Given the description of an element on the screen output the (x, y) to click on. 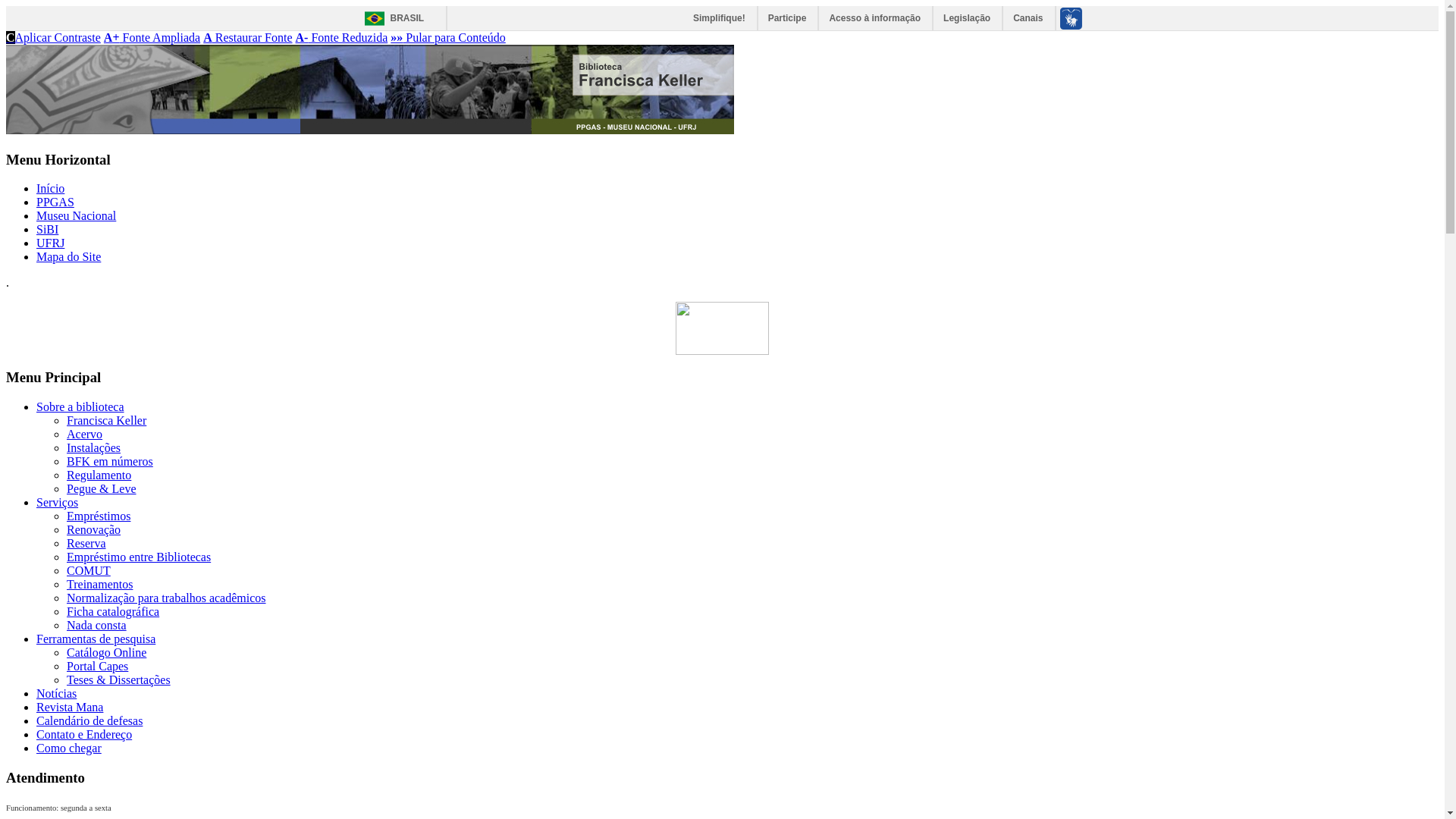
Regulamento Element type: text (98, 474)
Canais Element type: text (1028, 17)
Mapa do Site Element type: text (68, 256)
UFRJ Element type: text (50, 242)
Participe Element type: text (788, 17)
COMUT Element type: text (88, 570)
PPGAS Element type: text (55, 201)
Acervo Element type: text (84, 433)
Revista Mana Element type: text (69, 706)
Pegue & Leve Element type: text (101, 488)
Museu Nacional Element type: text (76, 215)
Nada consta Element type: text (96, 624)
Francisca Keller Element type: text (106, 420)
Portal Capes Element type: text (97, 665)
SiBI Element type: text (47, 228)
Simplifique! Element type: text (719, 17)
Reserva Element type: text (86, 542)
Treinamentos Element type: text (99, 583)
A+ Fonte Ampliada Element type: text (151, 37)
A Restaurar Fonte Element type: text (247, 37)
Como chegar Element type: text (68, 747)
CAplicar Contraste Element type: text (53, 37)
Ferramentas de pesquisa Element type: text (95, 638)
A- Fonte Reduzida Element type: text (341, 37)
BRASIL Element type: text (389, 18)
Sobre a biblioteca Element type: text (80, 406)
